Given the description of an element on the screen output the (x, y) to click on. 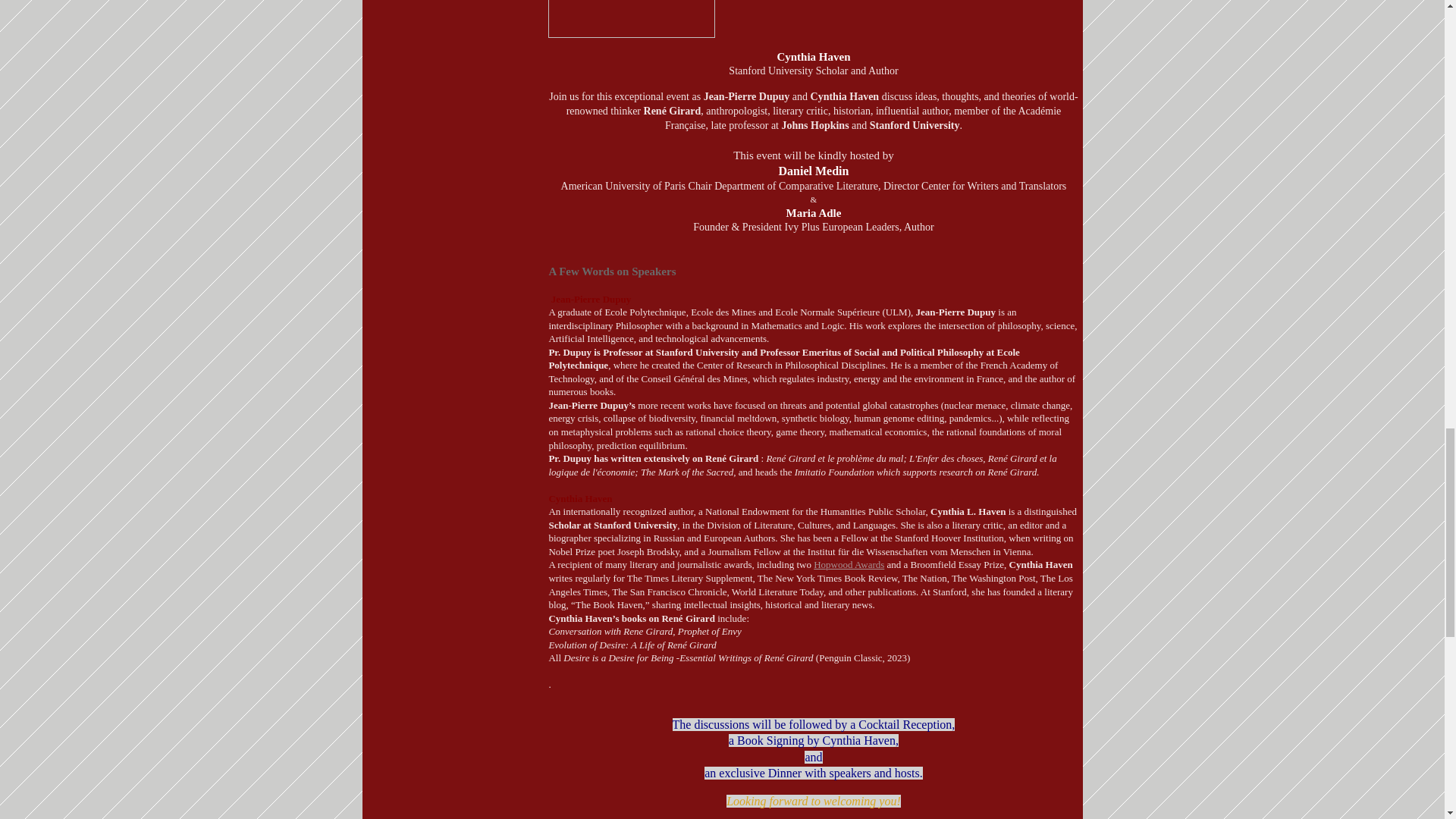
Hopwood Award (848, 564)
